Given the description of an element on the screen output the (x, y) to click on. 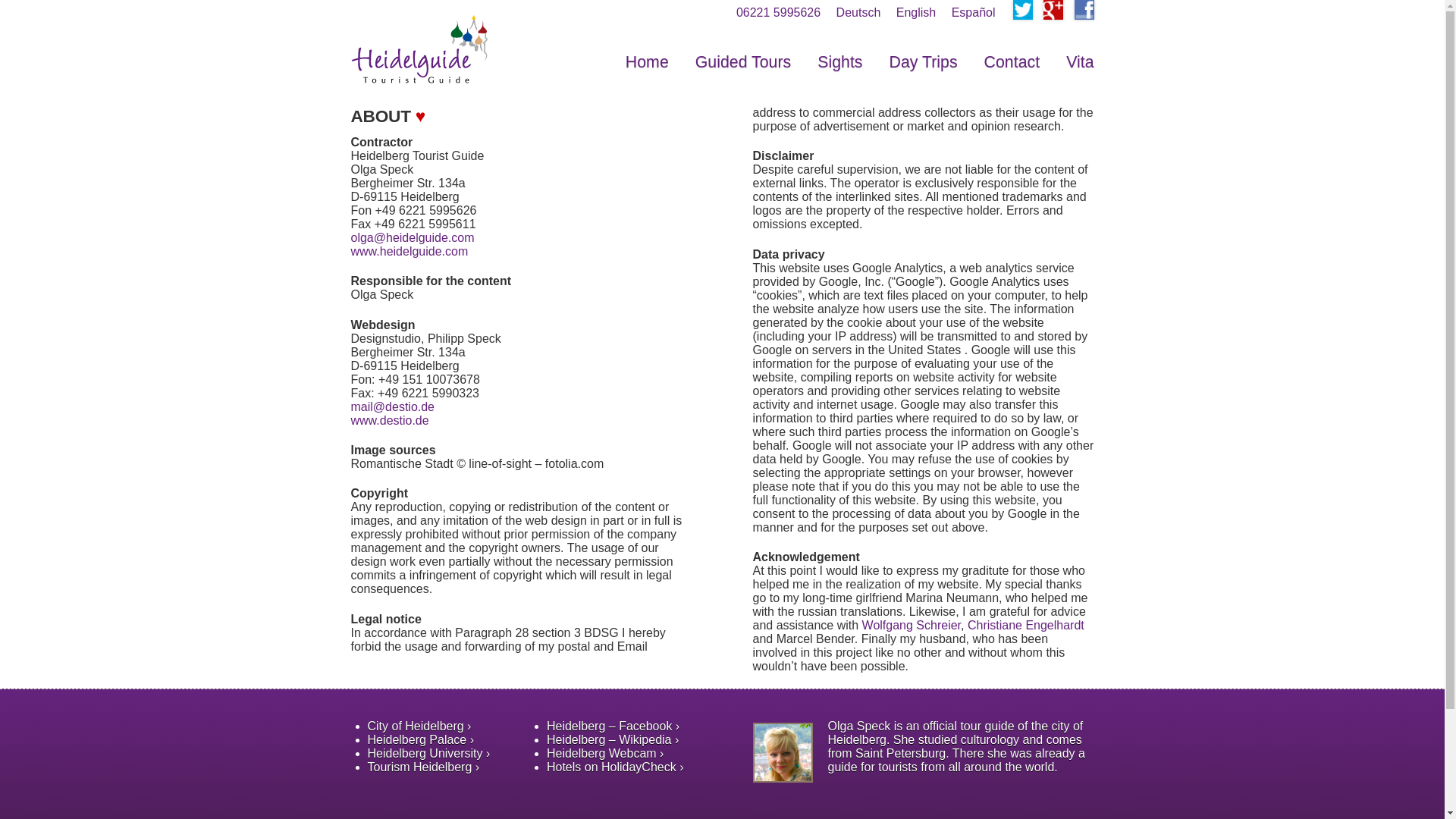
Heidelberg Webcam (605, 753)
Wolfgang Schreier - Projektmanager und Teamleader (910, 625)
Deutsch (857, 11)
Day Trips (923, 62)
Contact (1012, 62)
Tourism Heidelberg (422, 766)
City of Heidelberg (418, 725)
Tourism Heidelberg (422, 766)
Deutsch (857, 11)
Vita (1079, 62)
English (916, 11)
City of Heidelberg (418, 725)
Heidelberg Webcam (605, 753)
Sights (838, 62)
English (916, 11)
